Given the description of an element on the screen output the (x, y) to click on. 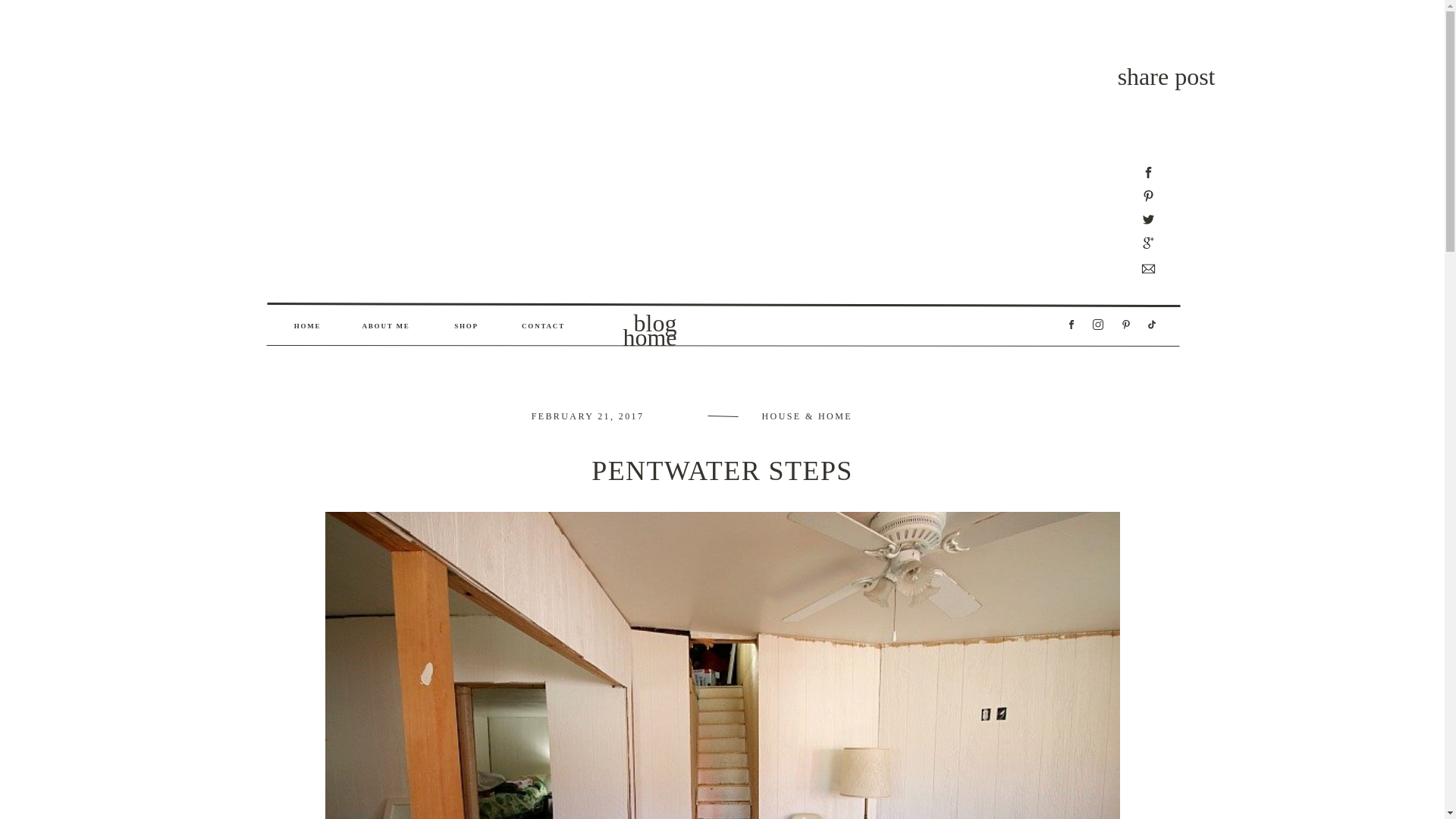
ABOUT ME (385, 325)
share post (1166, 76)
blog home (636, 324)
SHOP (466, 325)
HOME (306, 325)
CONTACT (542, 325)
